Given the description of an element on the screen output the (x, y) to click on. 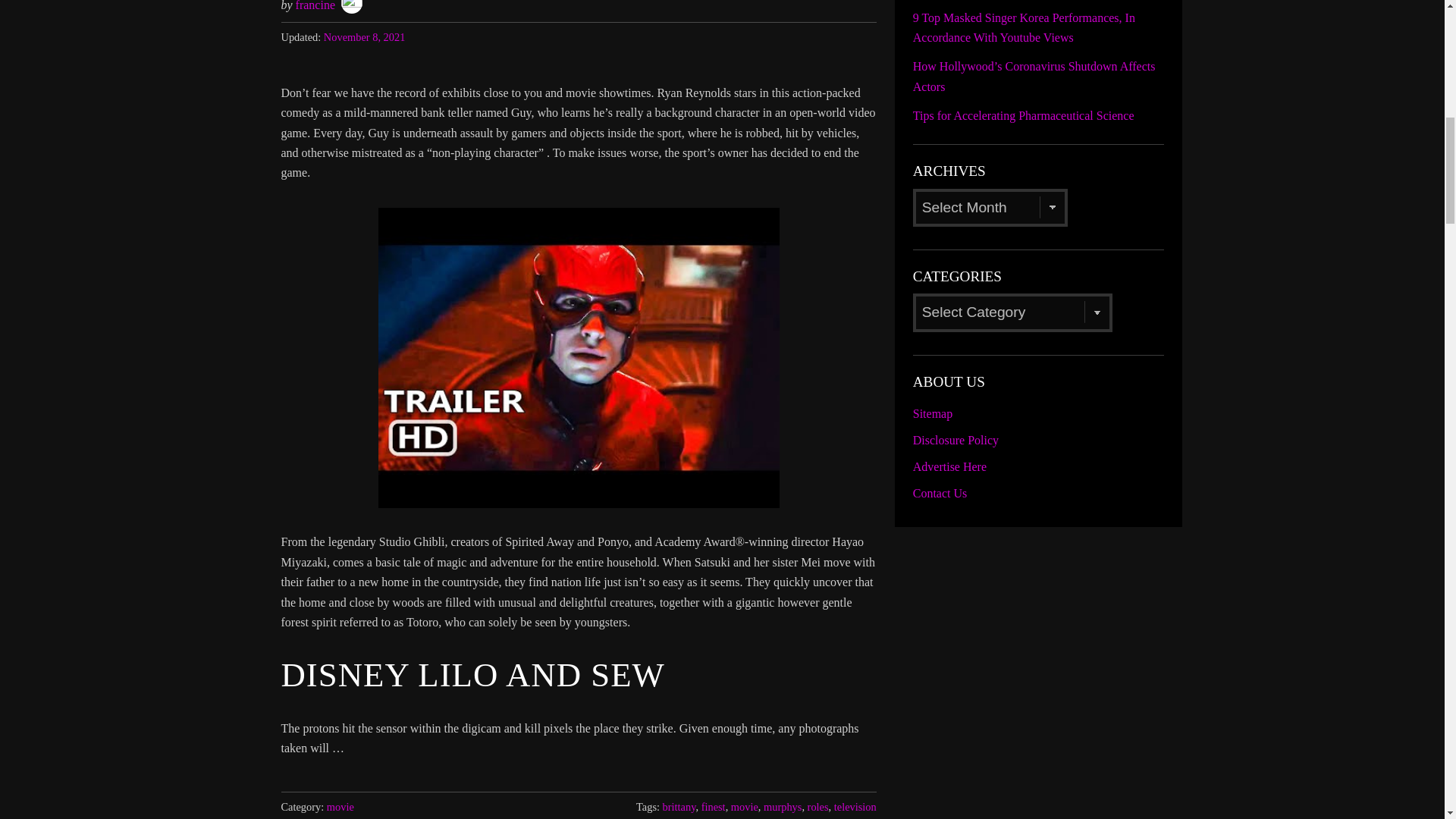
francine (314, 5)
Posts by francine (314, 5)
movie (339, 806)
November 8, 2021 (364, 37)
5:47 am (364, 37)
